Given the description of an element on the screen output the (x, y) to click on. 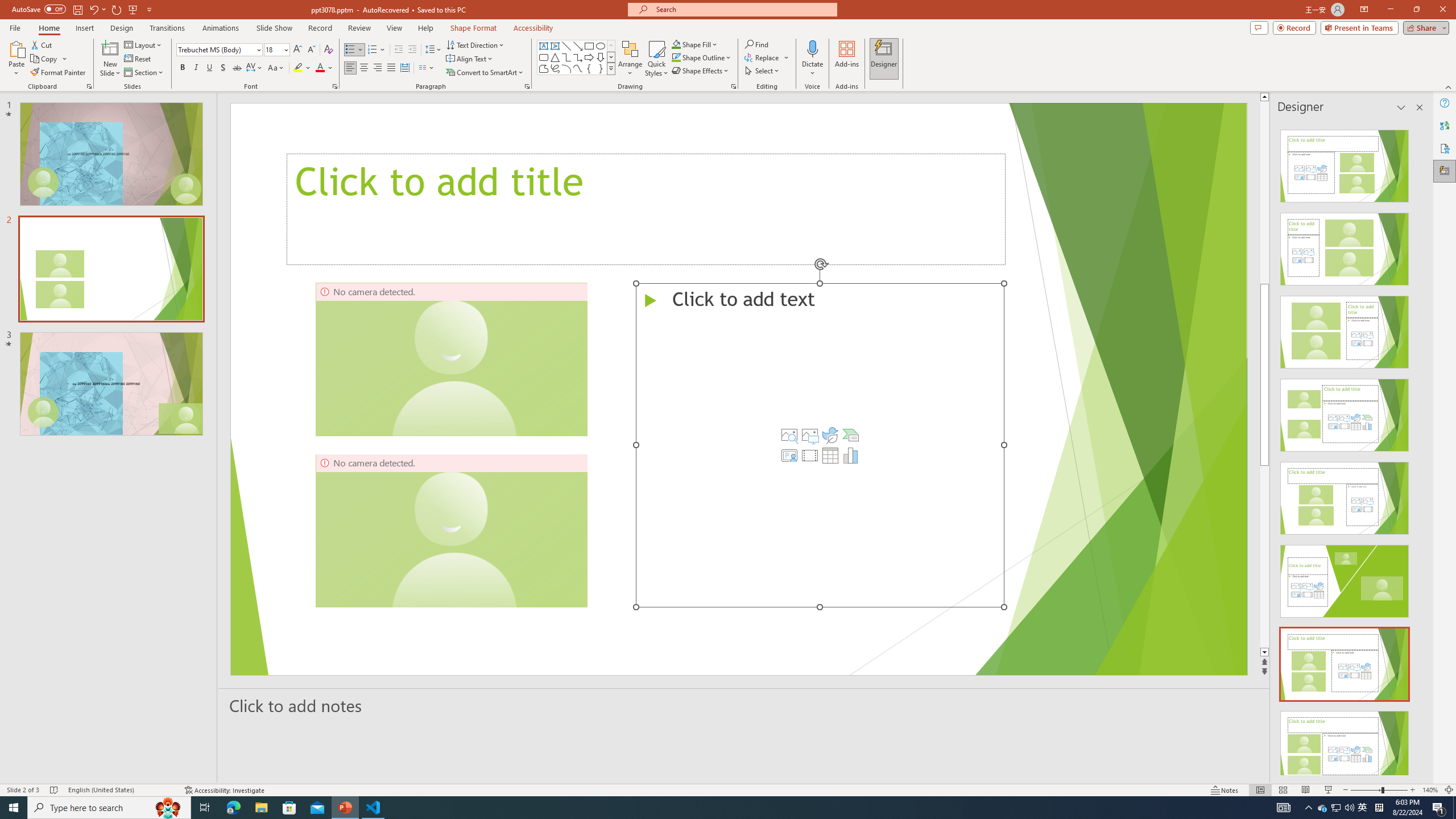
Camera 5, No camera detected. (451, 530)
Insert Cameo (788, 455)
Stock Images (788, 434)
Insert Table (830, 455)
